Given the description of an element on the screen output the (x, y) to click on. 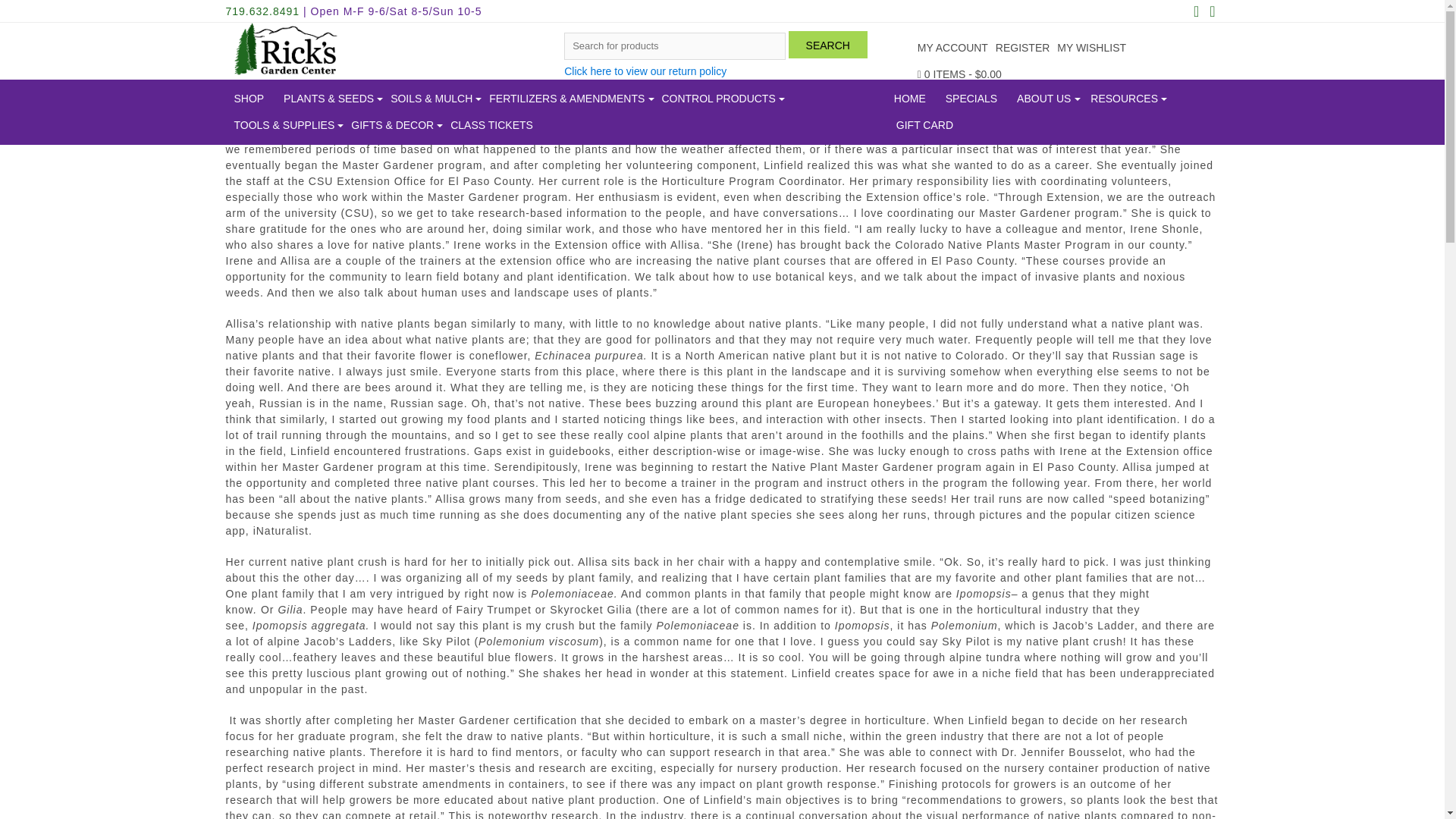
MY WISHLIST (1091, 48)
REGISTER (1022, 48)
Search (828, 44)
Search (828, 44)
SHOP (248, 98)
Facebook (1195, 12)
Search (828, 44)
719.632.8491 (262, 10)
MY ACCOUNT (952, 48)
Start shopping (959, 74)
Instagram (1211, 12)
Click here to view our return policy (645, 70)
